Given the description of an element on the screen output the (x, y) to click on. 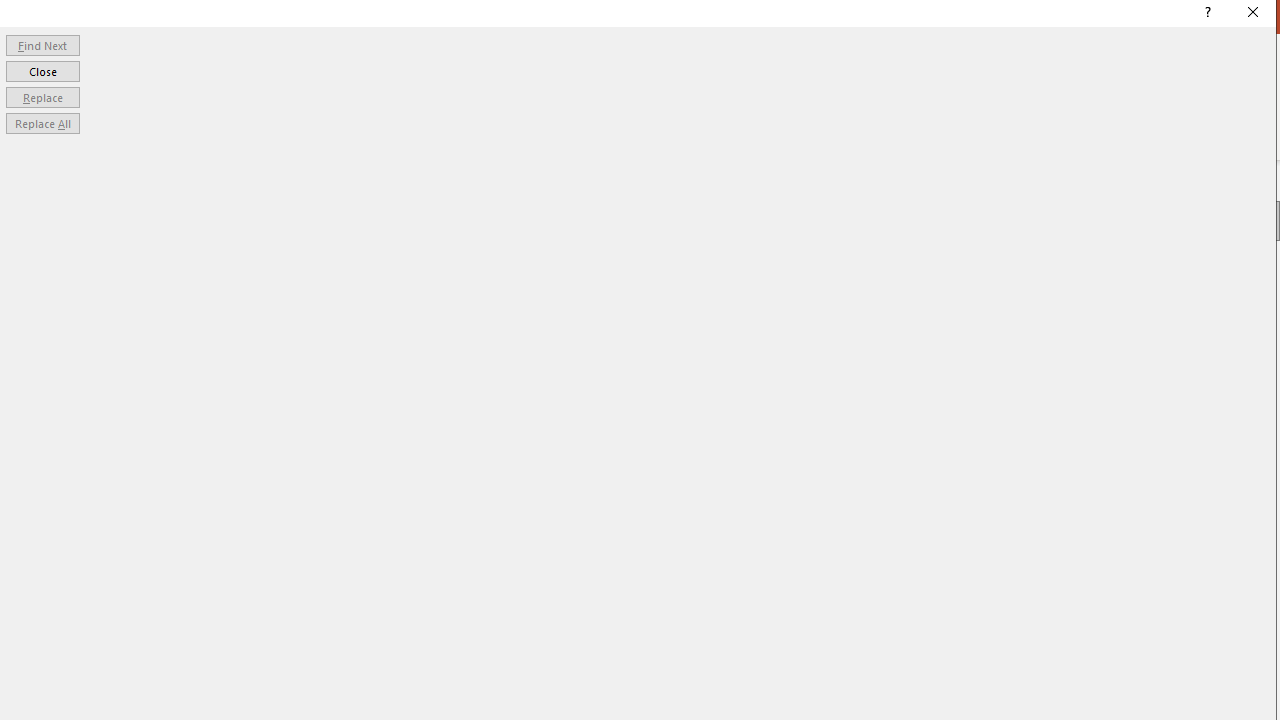
Find Next (42, 44)
Replace All (42, 123)
Replace (42, 96)
